Given the description of an element on the screen output the (x, y) to click on. 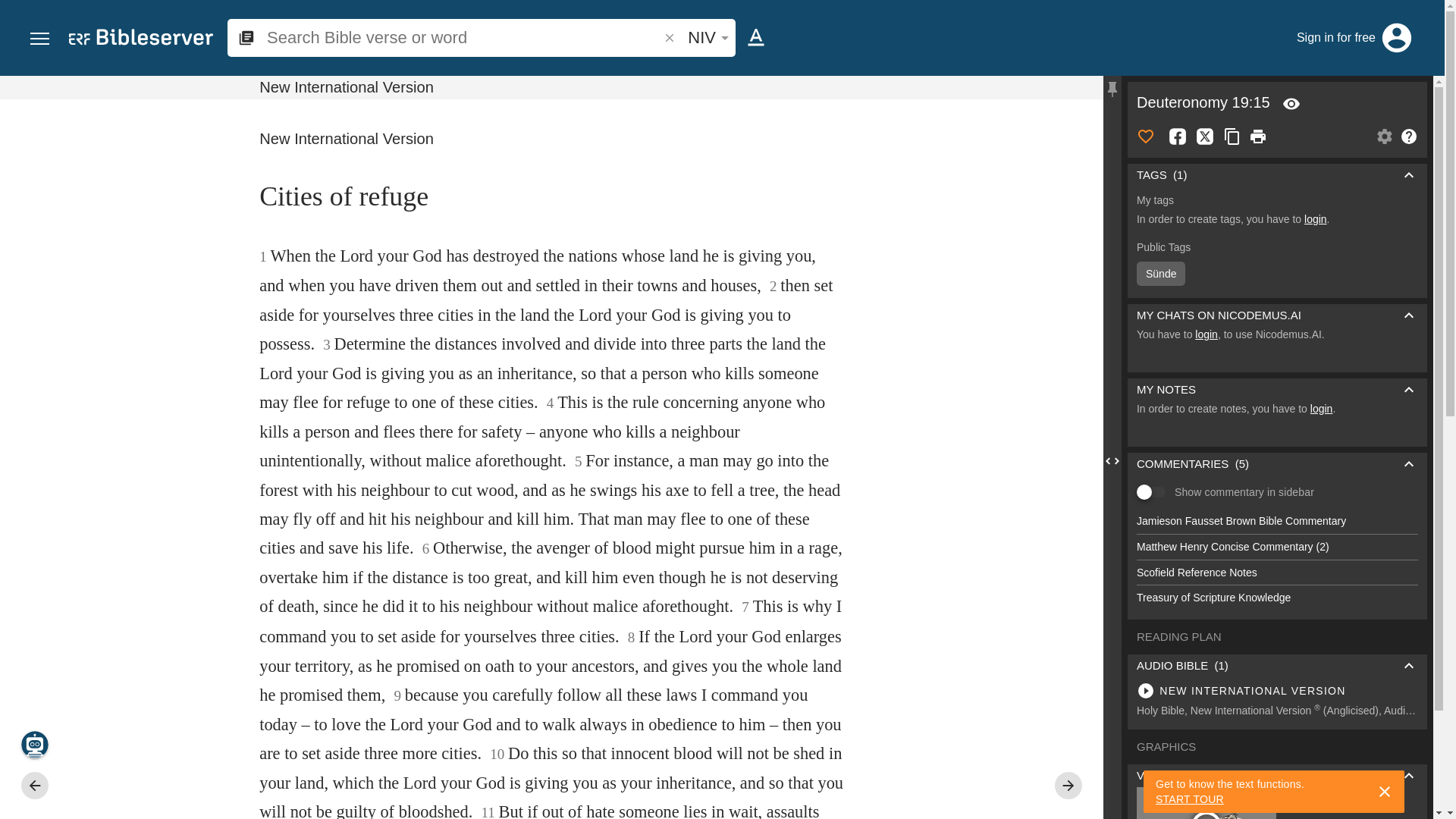
Sign in for free (1337, 37)
bibleserver.com (140, 39)
New International Version (551, 87)
NIV (706, 37)
START TOUR (1190, 799)
Open menu (39, 38)
New International Version (551, 87)
